Given the description of an element on the screen output the (x, y) to click on. 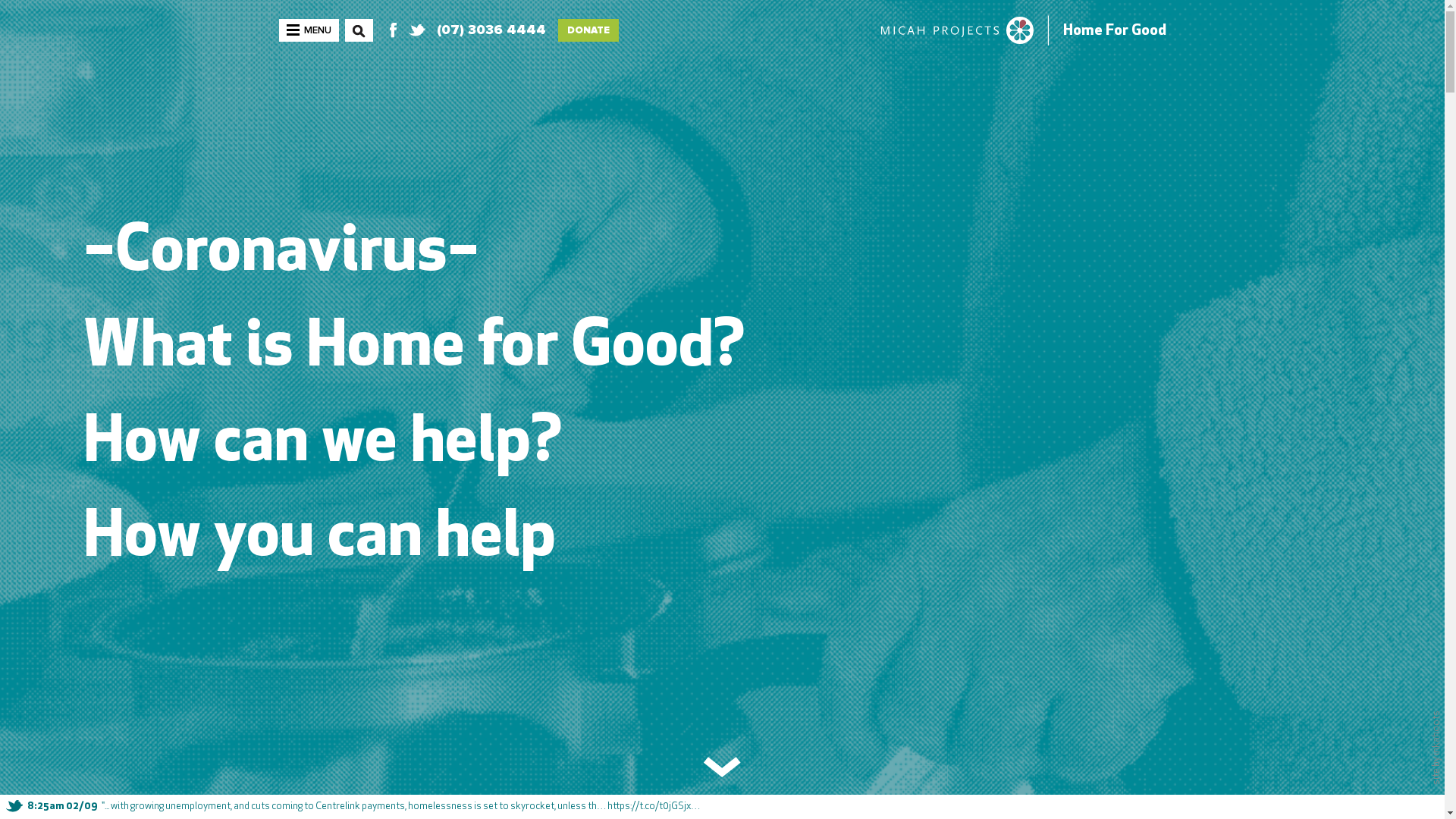
Home For Good Element type: text (1114, 30)
How you can help Element type: text (319, 539)
Twitter Element type: text (415, 29)
DONATE Element type: text (588, 29)
What is Home for Good? Element type: text (413, 349)
Facebook Element type: text (391, 29)
(07) 3036 4444 Element type: text (491, 30)
How can we help? Element type: text (322, 444)
SEARCH Element type: text (357, 41)
